Given the description of an element on the screen output the (x, y) to click on. 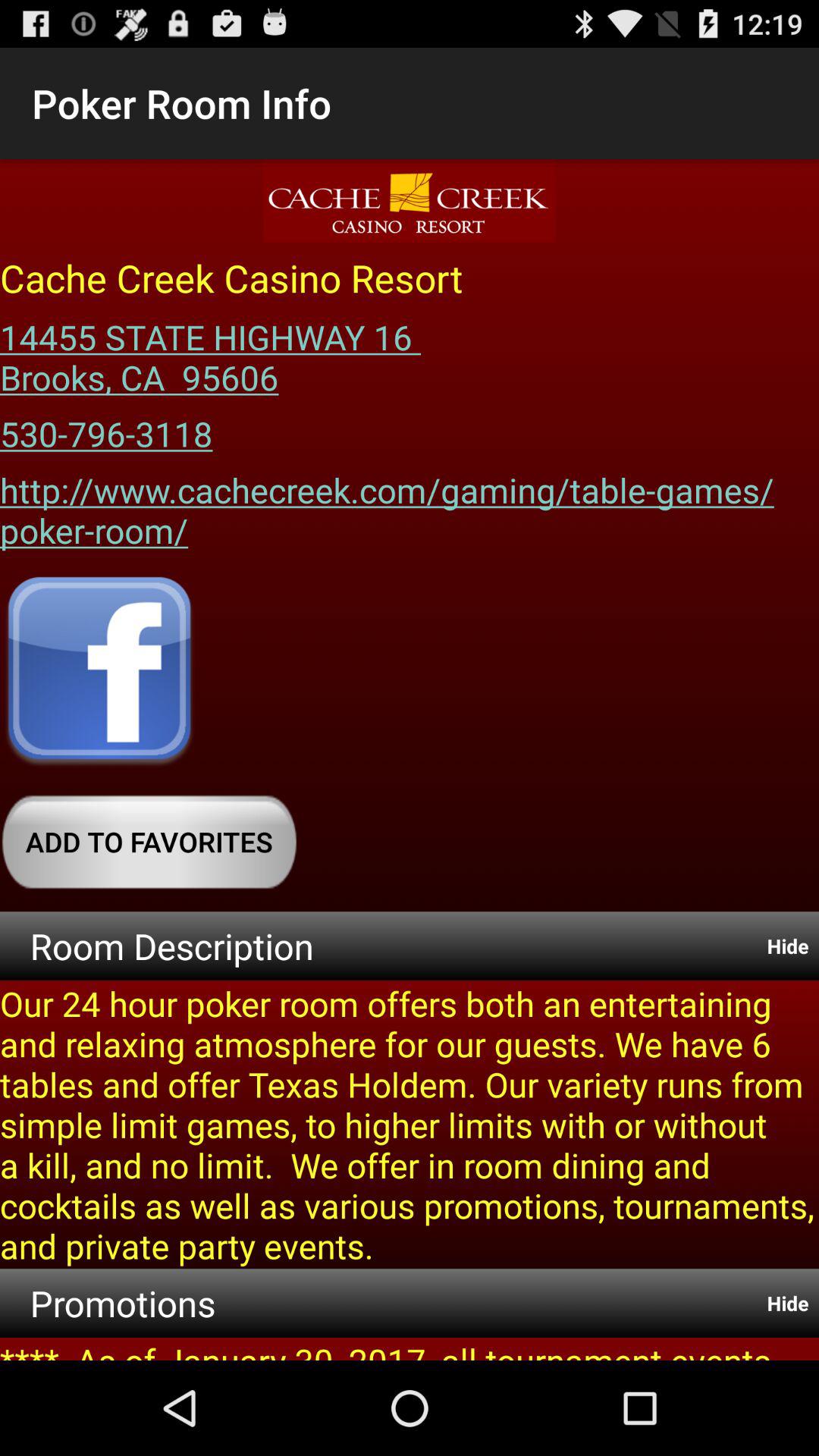
go to facebook page (99, 672)
